Given the description of an element on the screen output the (x, y) to click on. 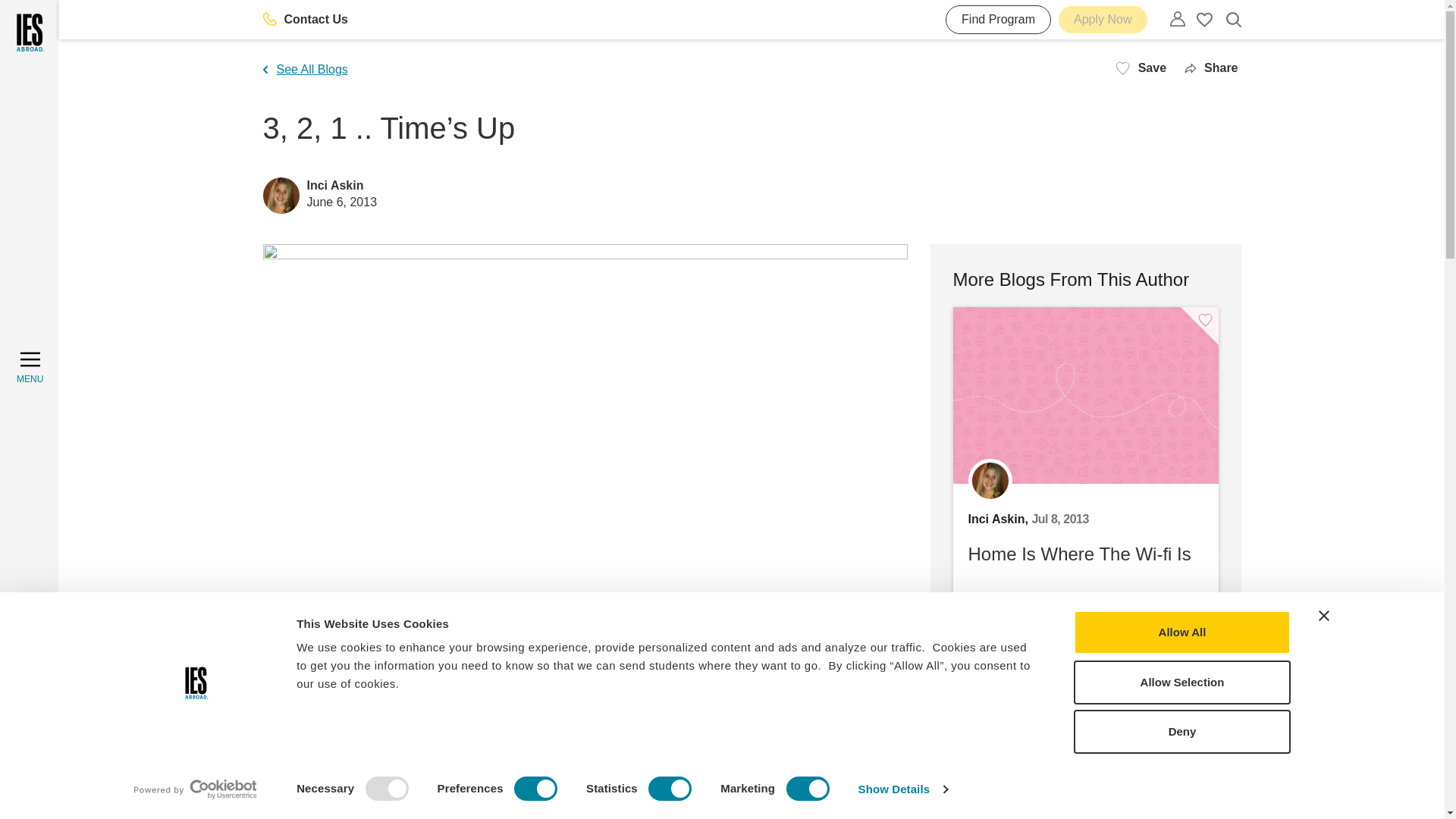
Show Details (902, 789)
